Given the description of an element on the screen output the (x, y) to click on. 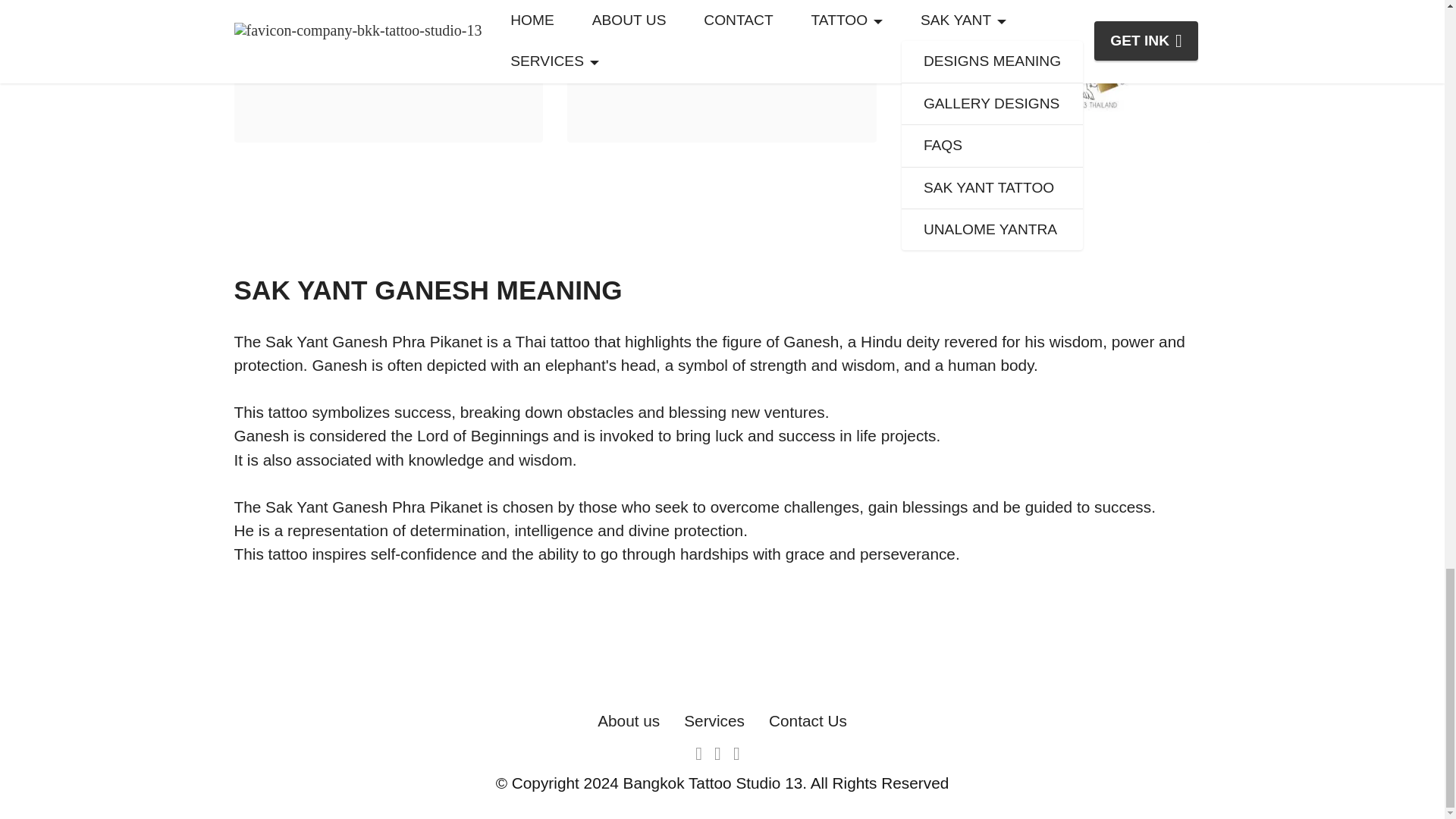
Contact Us (807, 720)
About us (627, 720)
Services (714, 720)
